Given the description of an element on the screen output the (x, y) to click on. 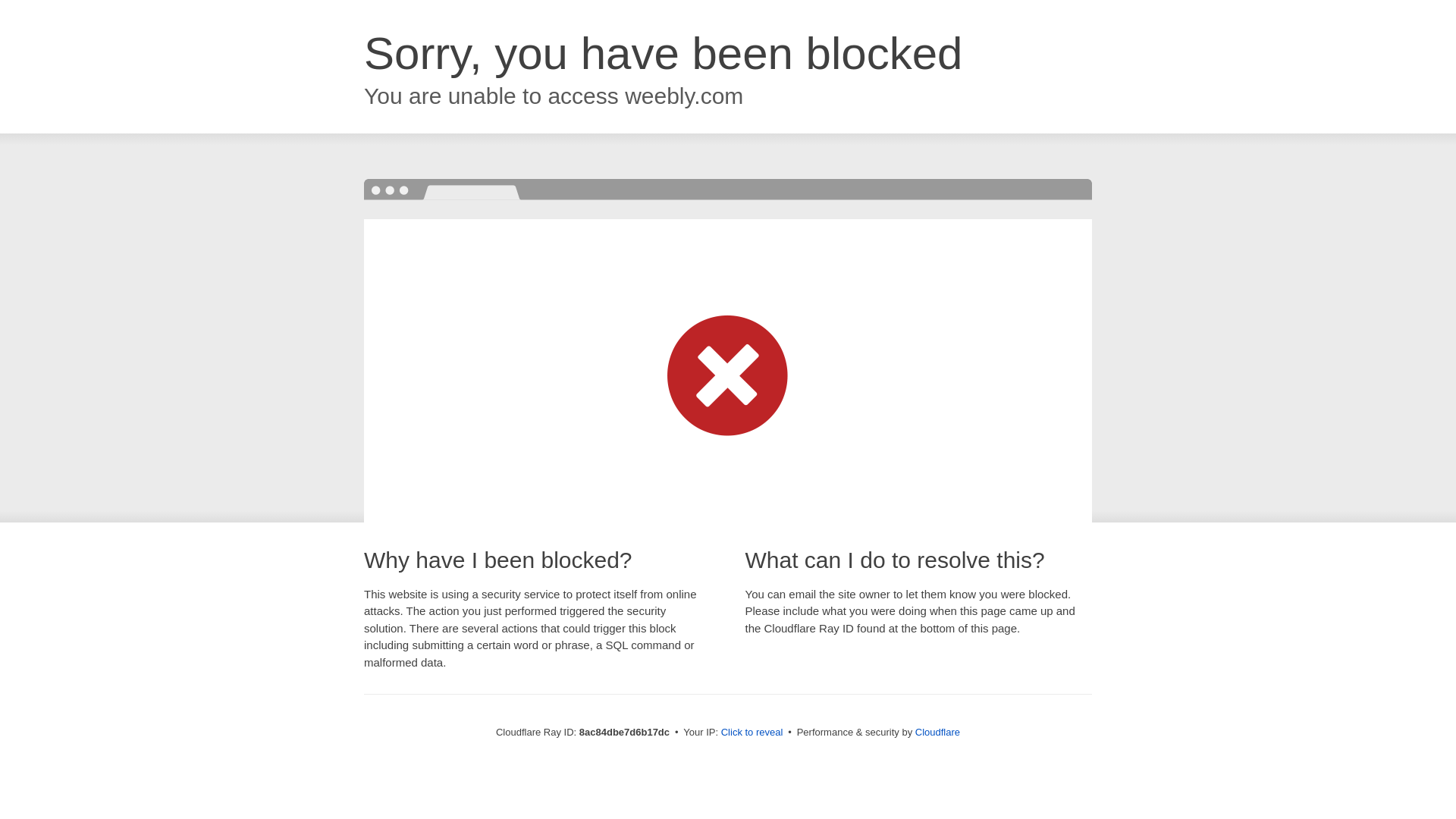
Click to reveal (751, 732)
Cloudflare (937, 731)
